Given the description of an element on the screen output the (x, y) to click on. 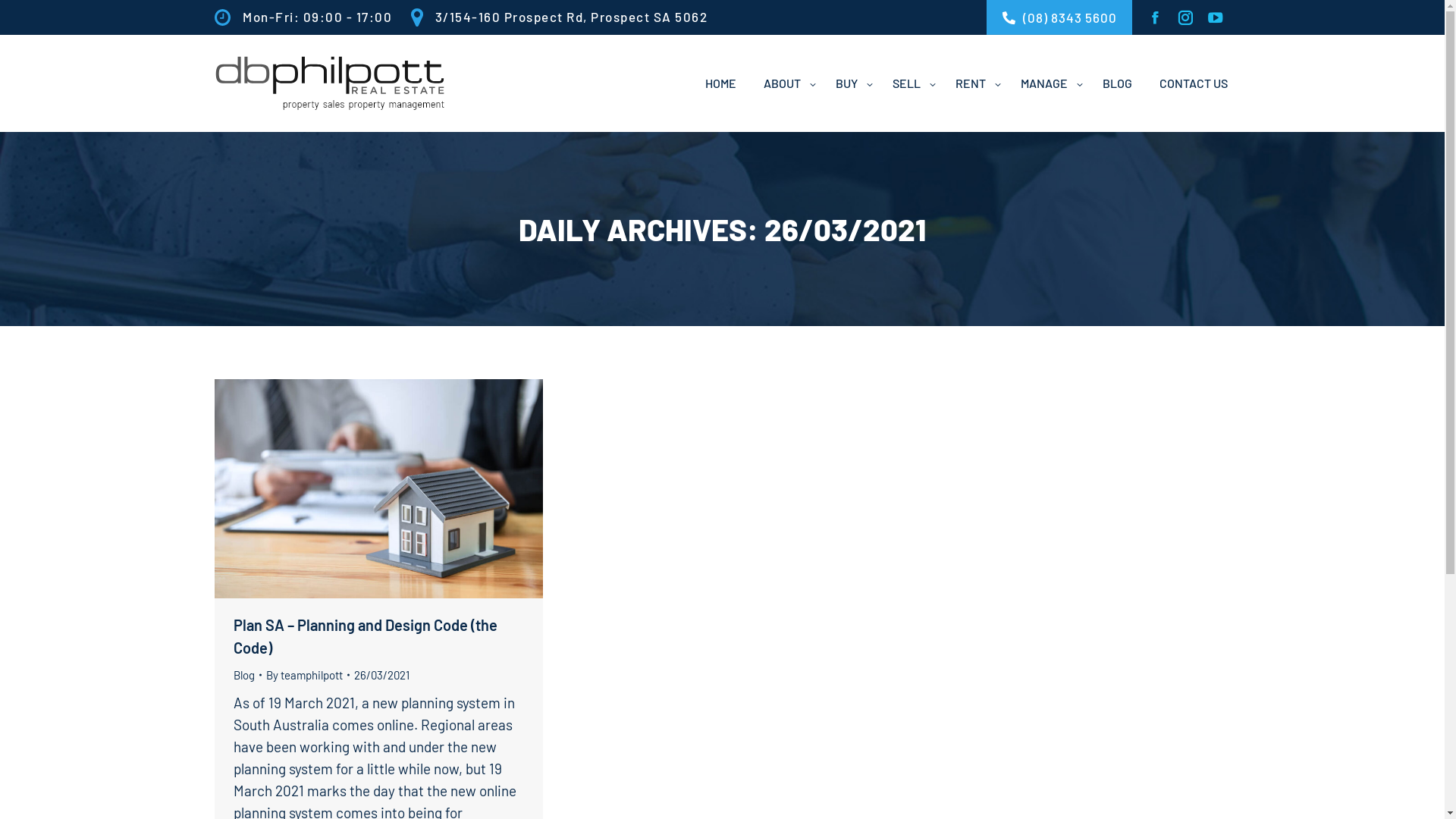
Facebook page opens in new window Element type: text (1154, 17)
BUY Element type: text (850, 83)
Blog Element type: text (243, 674)
SELL Element type: text (909, 83)
MANAGE Element type: text (1047, 83)
RENT Element type: text (974, 83)
(08) 8343 5600 Element type: text (1059, 17)
HOME Element type: text (720, 83)
Instagram page opens in new window Element type: text (1185, 17)
By teamphilpott Element type: text (306, 675)
26/03/2021 Element type: text (380, 675)
ABOUT Element type: text (784, 83)
shutterstock_1716430759 (1) Element type: hover (377, 488)
YouTube page opens in new window Element type: text (1215, 17)
BLOG Element type: text (1117, 83)
CONTACT US Element type: text (1192, 83)
3/154-160 Prospect Rd, Prospect SA 5062 Element type: text (565, 16)
